Given the description of an element on the screen output the (x, y) to click on. 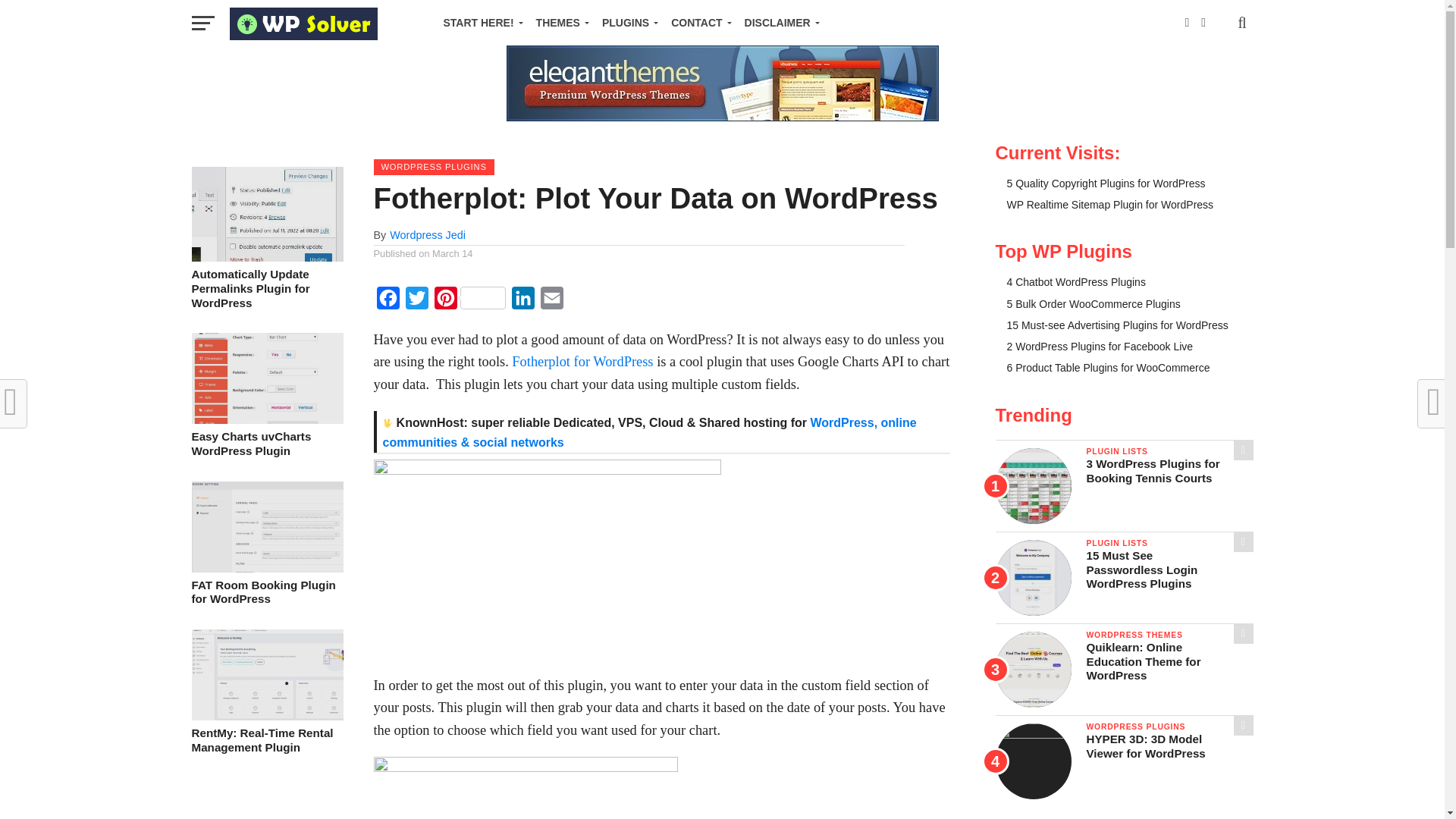
Twitter (415, 301)
Posts by Wordpress Jedi (427, 234)
Email (551, 301)
Easy Charts uvCharts WordPress Plugin (266, 419)
FAT Room Booking Plugin for WordPress (266, 567)
START HERE! (479, 22)
RentMy: Real-Time Rental Management Plugin (266, 716)
LinkedIn (522, 301)
Pinterest (469, 301)
Facebook (386, 301)
Automatically Update Permalinks Plugin for WordPress (266, 256)
